Given the description of an element on the screen output the (x, y) to click on. 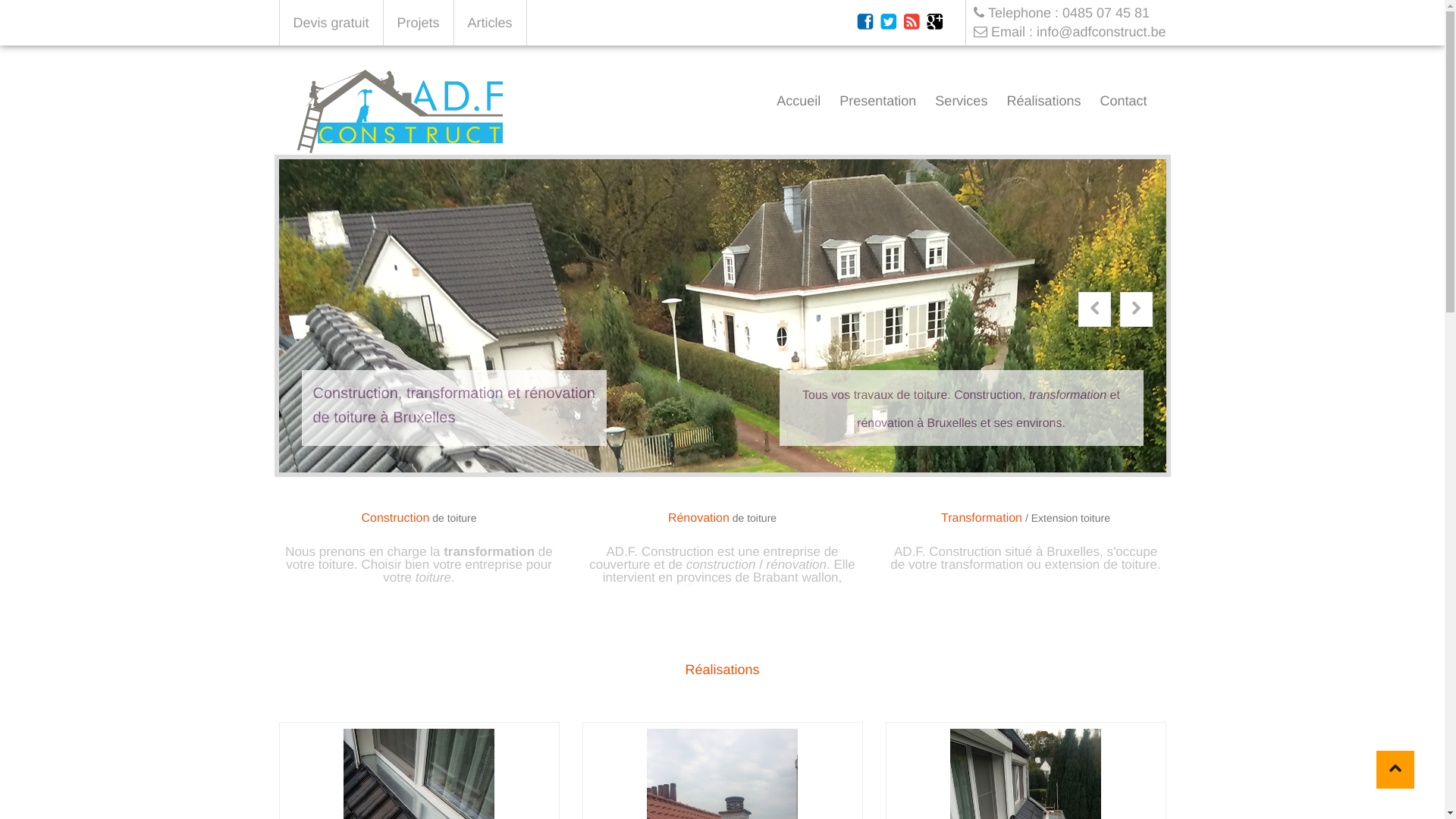
Facebook Element type: hover (865, 22)
Presentation Element type: text (877, 104)
Accueil Element type: text (798, 104)
Rss Element type: hover (911, 22)
Projets Element type: text (418, 22)
Contact Element type: text (1122, 104)
back-to-top Element type: hover (1395, 769)
Twitter Element type: hover (888, 22)
Devis gratuit Element type: text (330, 22)
Articles Element type: text (490, 22)
Google+ Element type: hover (935, 22)
Services Element type: text (961, 104)
